Given the description of an element on the screen output the (x, y) to click on. 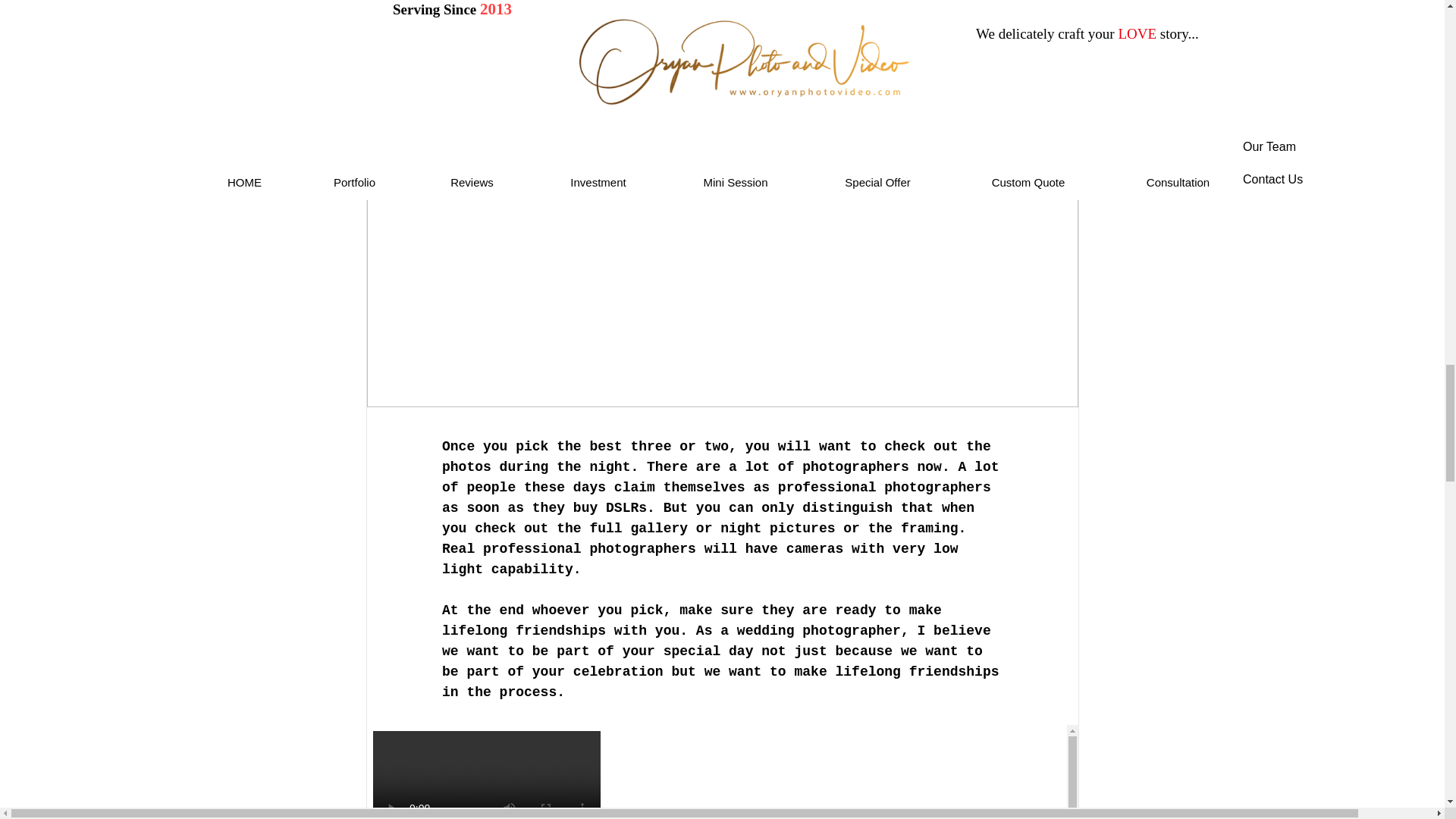
ricos-video (722, 771)
